Given the description of an element on the screen output the (x, y) to click on. 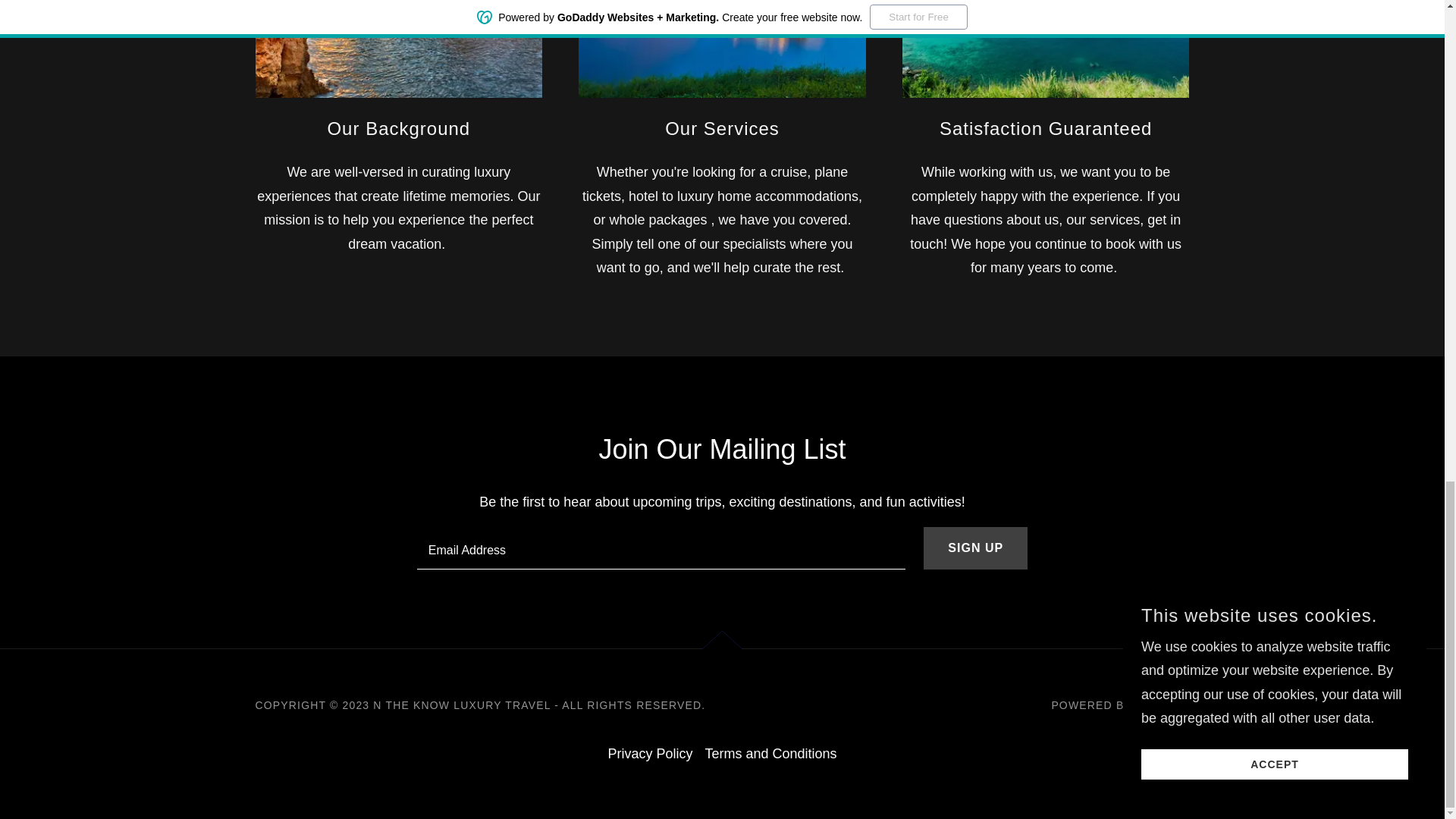
Terms and Conditions (770, 753)
Privacy Policy (649, 753)
SIGN UP (975, 548)
GODADDY (1162, 705)
